Given the description of an element on the screen output the (x, y) to click on. 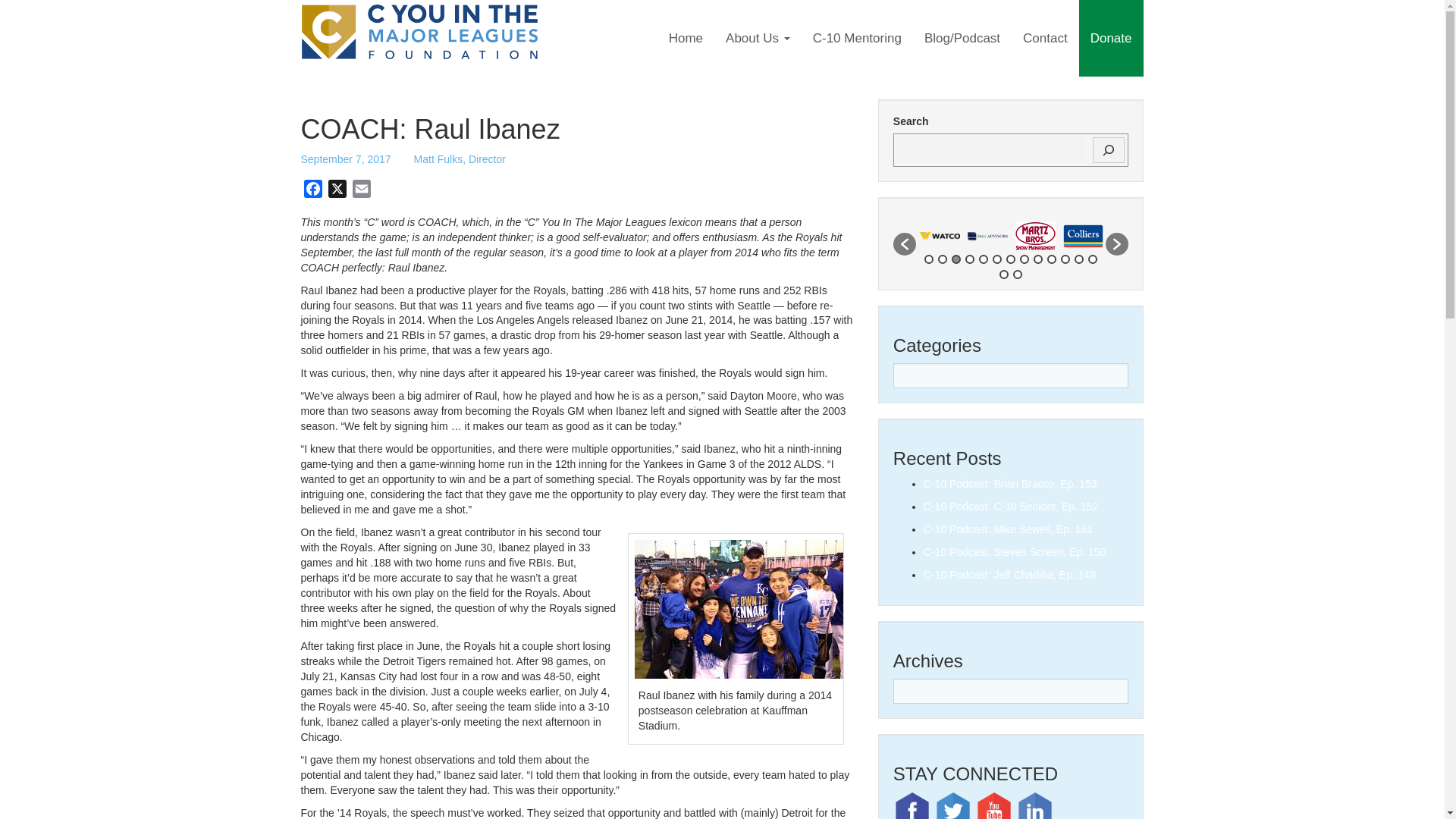
13 (1092, 258)
C-10 Mentoring (857, 38)
X (336, 191)
12 (1078, 258)
C-10 Podcast: C-10 Seniors, Ep. 152 (1010, 506)
View all posts by Matt Fulks, Director (459, 159)
September 7, 2017 (344, 159)
9 (1037, 258)
1 (928, 258)
About Us (758, 38)
6 (996, 258)
About Us (758, 38)
5 (983, 258)
3 (956, 258)
C-10 Mentoring (857, 38)
